Given the description of an element on the screen output the (x, y) to click on. 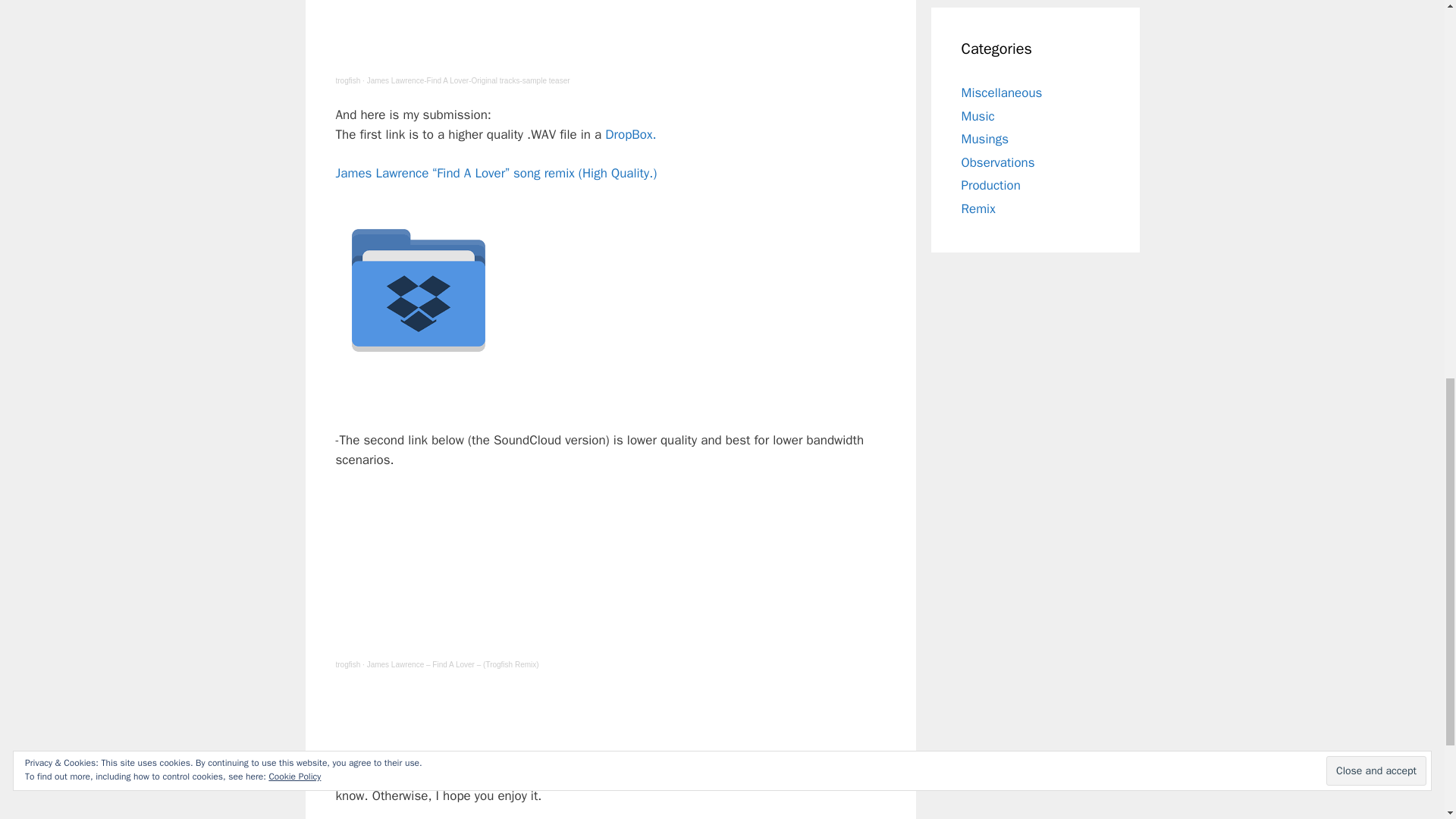
trogfish (346, 80)
trogfish (346, 80)
James Lawrence-Find A Lover-Original tracks-sample teaser (468, 80)
Remix (977, 207)
Musings (984, 139)
Music (977, 115)
Observations (997, 162)
trogfish (346, 664)
James Lawrence-Find A Lover-Original tracks-sample teaser (468, 80)
DropBox. (630, 134)
Miscellaneous (1001, 92)
Production (990, 185)
trogfish (346, 664)
